Given the description of an element on the screen output the (x, y) to click on. 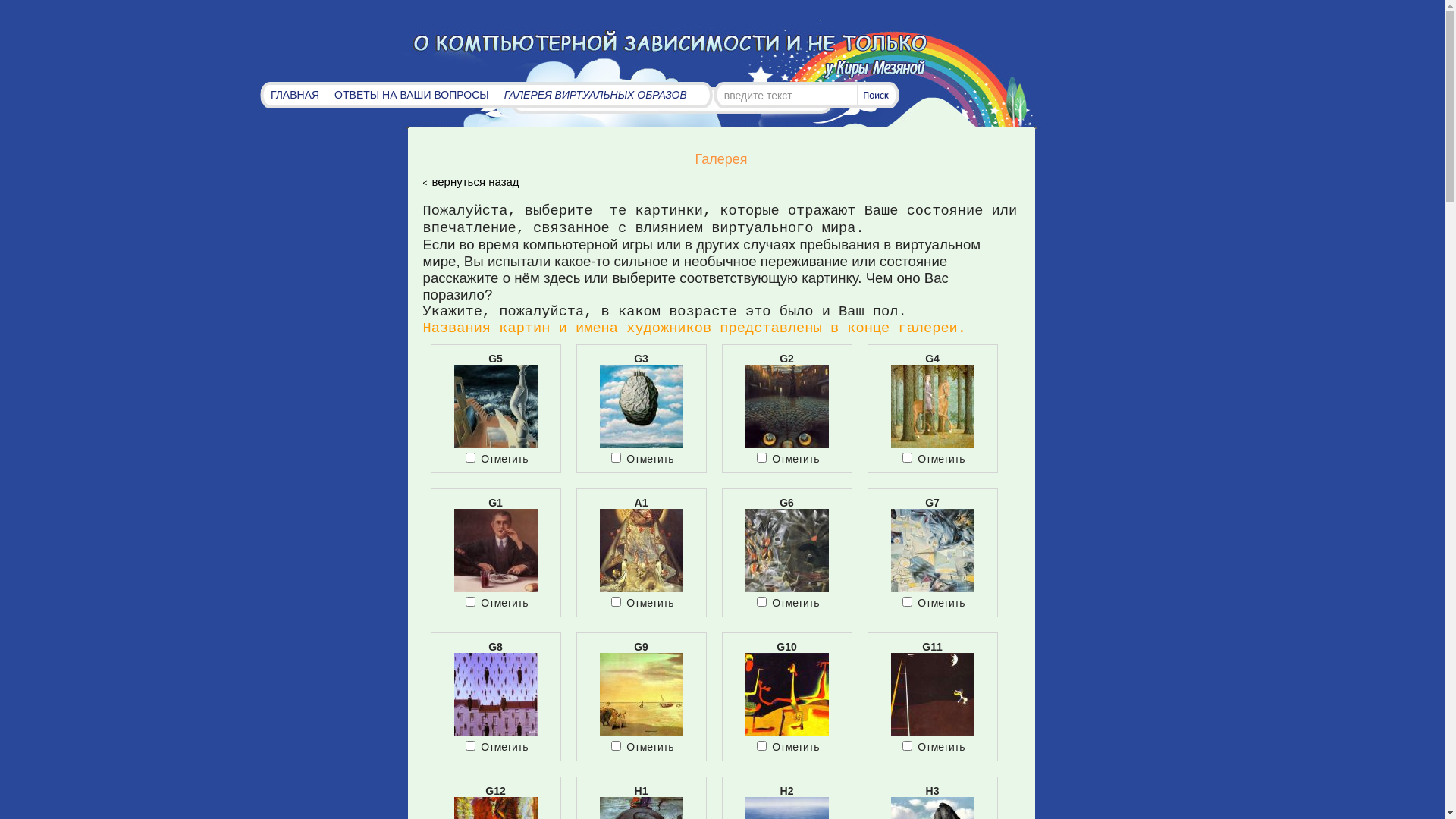
on Element type: text (616, 457)
A1 Element type: hover (640, 588)
on Element type: text (616, 601)
G11 Element type: hover (931, 732)
G4 Element type: hover (931, 444)
G7 Element type: hover (931, 588)
on Element type: text (761, 457)
G6 Element type: hover (786, 588)
on Element type: text (470, 745)
G8 Element type: hover (494, 732)
G10 Element type: hover (786, 732)
G2 Element type: hover (786, 444)
G9 Element type: hover (640, 732)
on Element type: text (761, 745)
G5 Element type: hover (494, 444)
on Element type: text (907, 601)
on Element type: text (761, 601)
on Element type: text (616, 745)
G3 Element type: hover (640, 444)
on Element type: text (907, 457)
on Element type: text (907, 745)
G1 Element type: hover (494, 588)
on Element type: text (470, 457)
on Element type: text (470, 601)
